Given the description of an element on the screen output the (x, y) to click on. 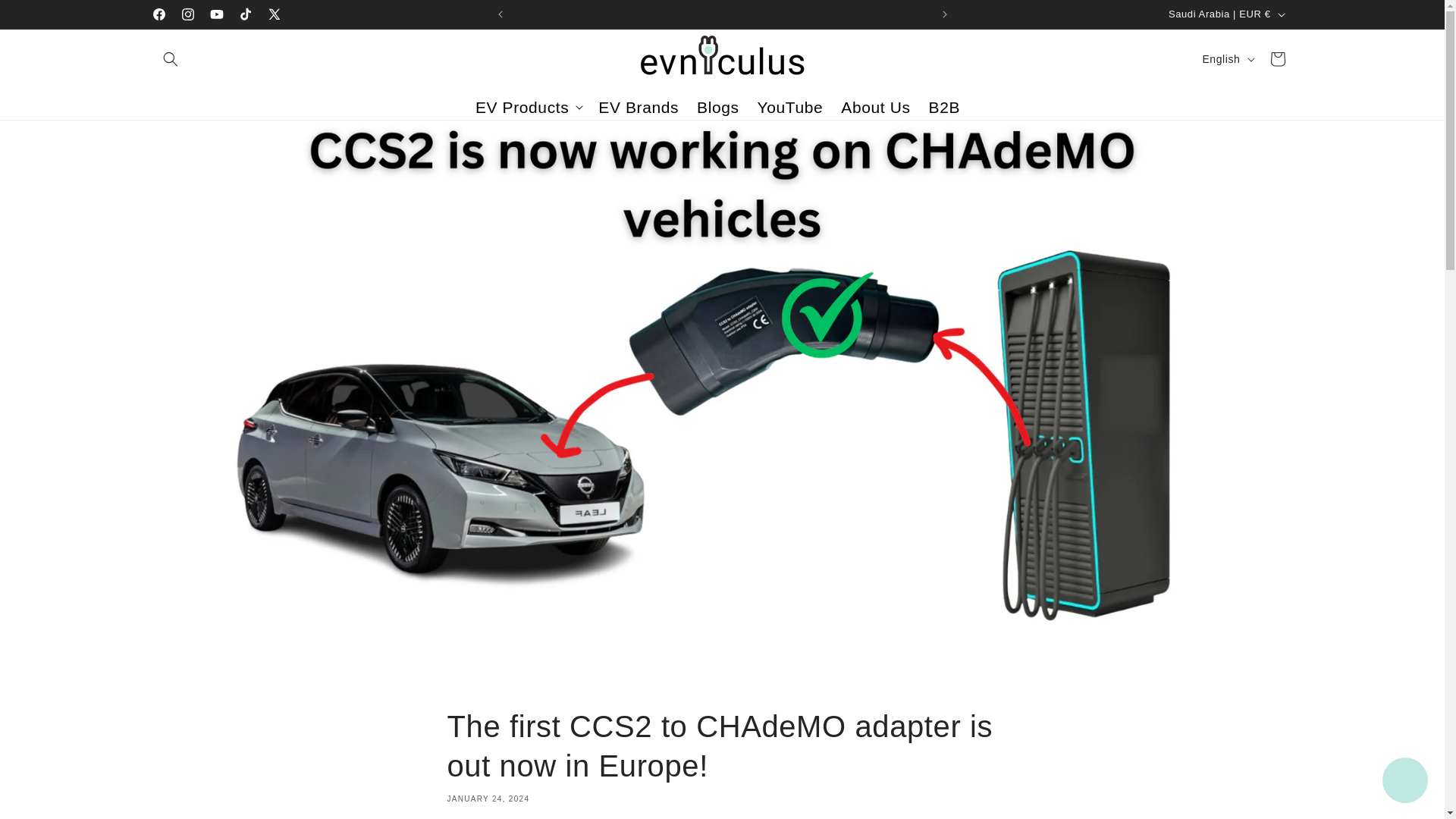
Facebook (158, 14)
Shopify online store chat (1404, 781)
EV Brands (638, 107)
YouTube (216, 14)
Skip to content (45, 17)
Instagram (187, 14)
TikTok (244, 14)
